Given the description of an element on the screen output the (x, y) to click on. 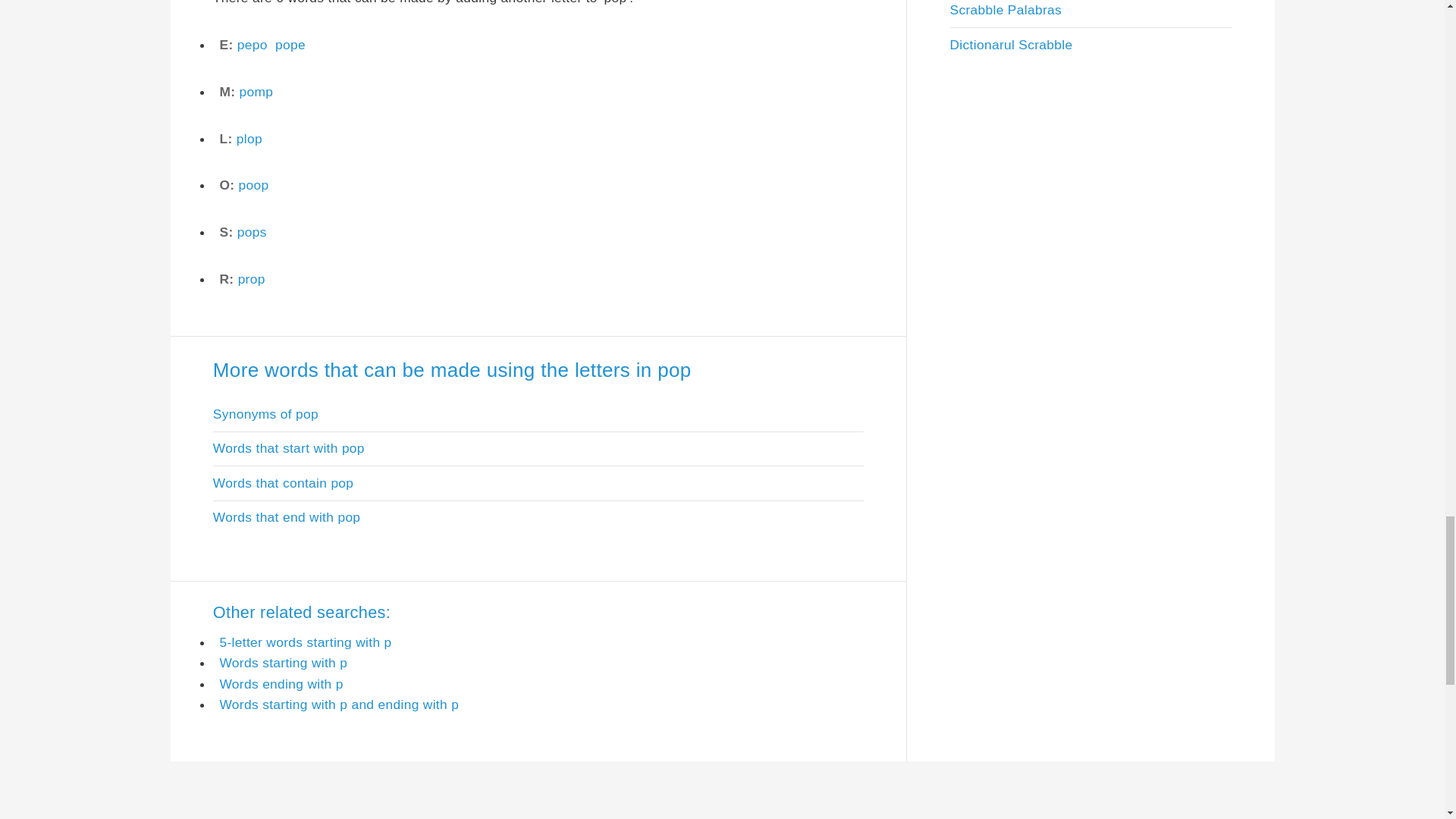
plop (248, 138)
pepo (252, 44)
pope (290, 44)
pomp (256, 91)
